Given the description of an element on the screen output the (x, y) to click on. 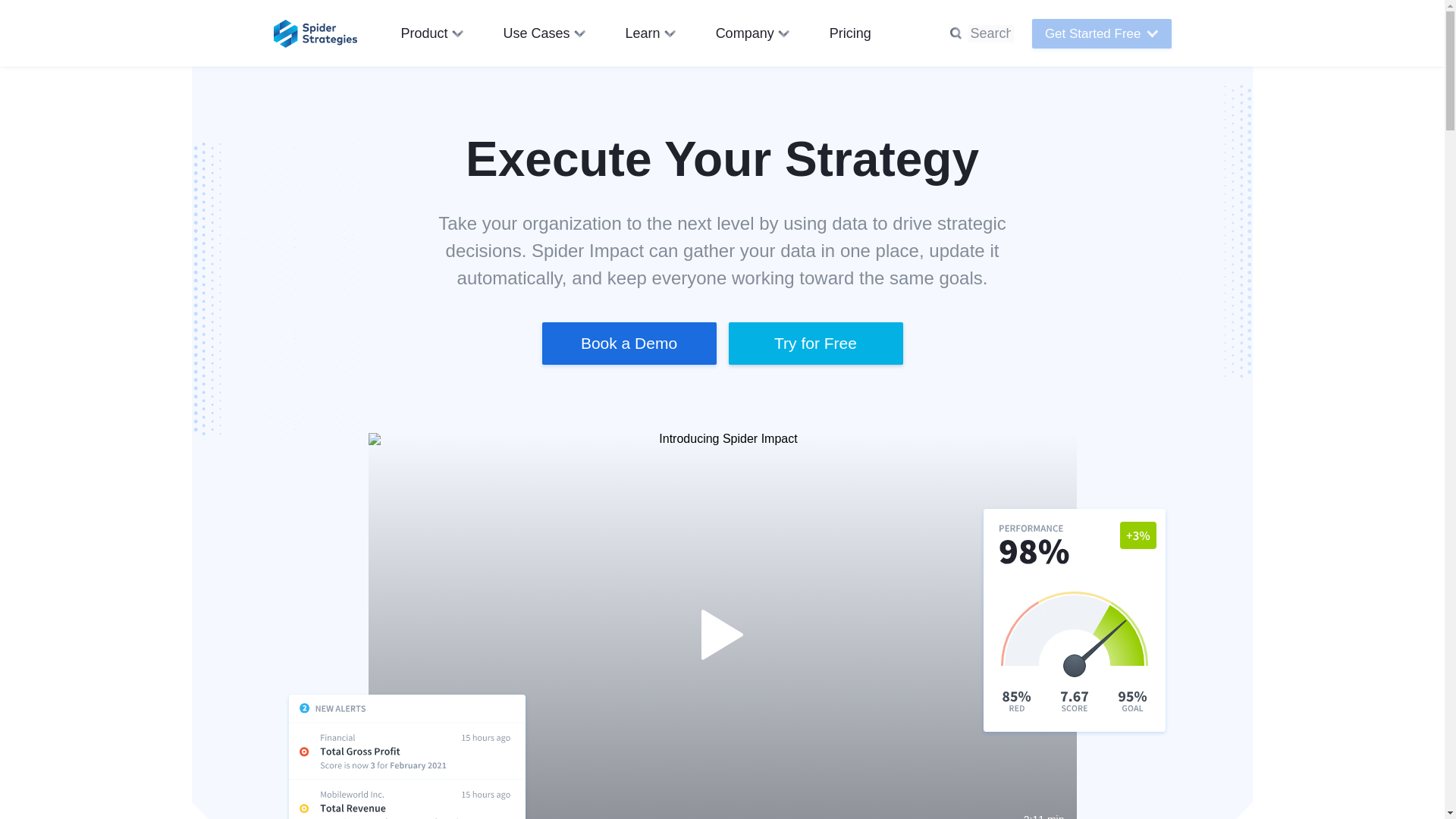
Pricing (849, 33)
